Given the description of an element on the screen output the (x, y) to click on. 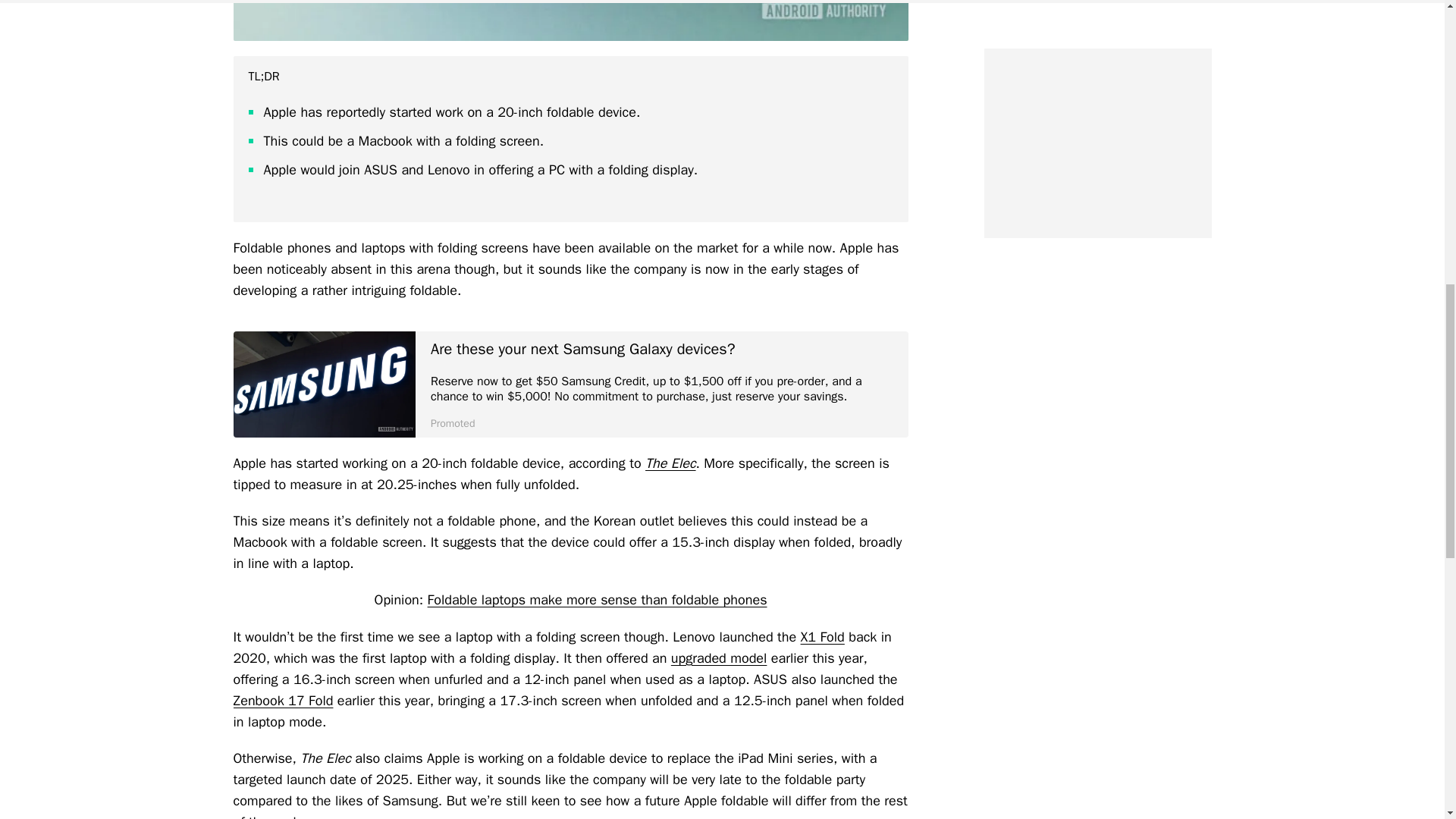
Foldable laptops make more sense than foldable phones (597, 599)
apple macbook air m2 apple logo (570, 20)
upgraded model (719, 658)
X1 Fold (822, 636)
The Elec (670, 463)
Zenbook 17 Fold (282, 700)
